Given the description of an element on the screen output the (x, y) to click on. 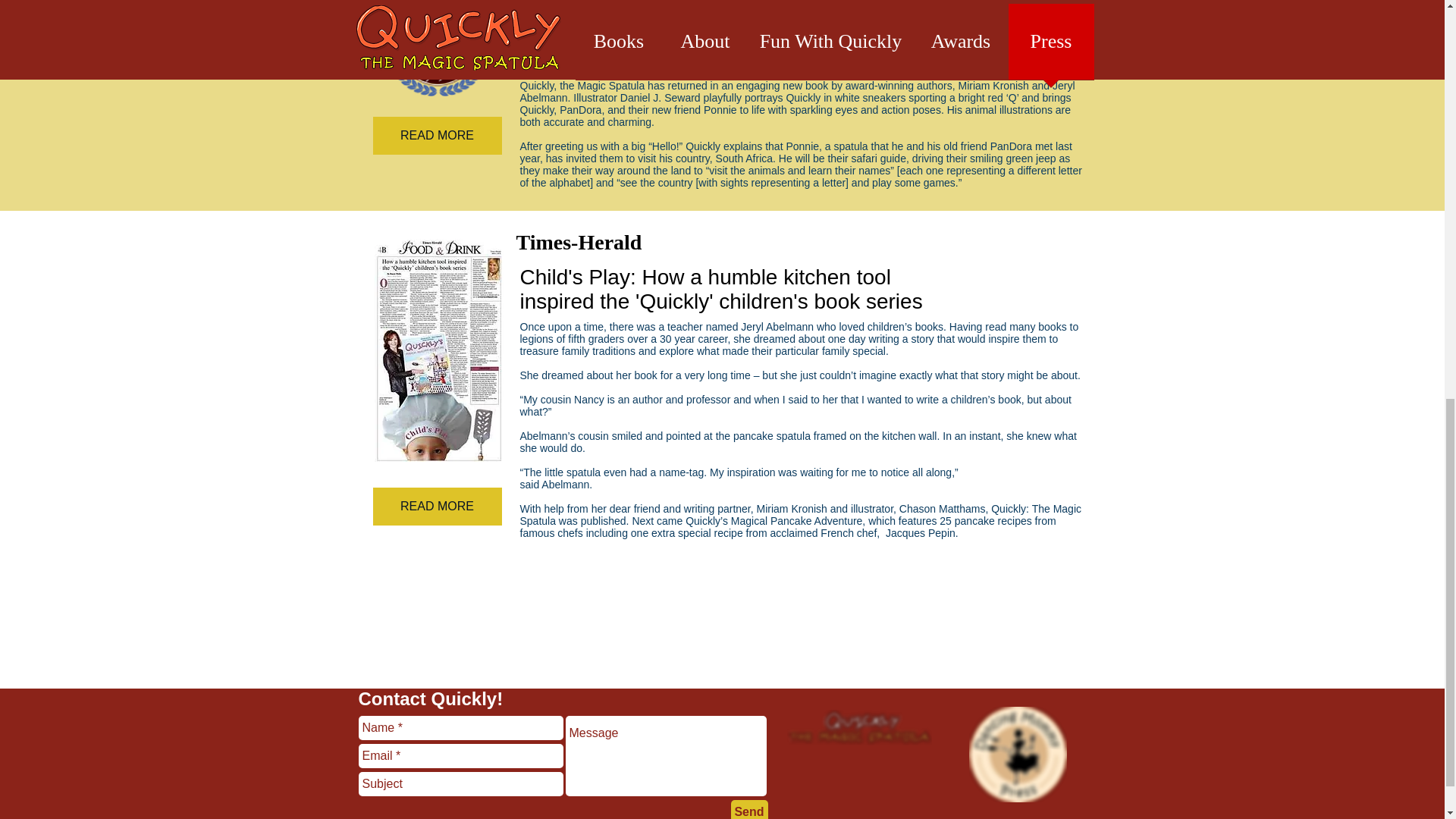
READ MORE (437, 135)
READ MORE (437, 506)
Send (749, 809)
